Given the description of an element on the screen output the (x, y) to click on. 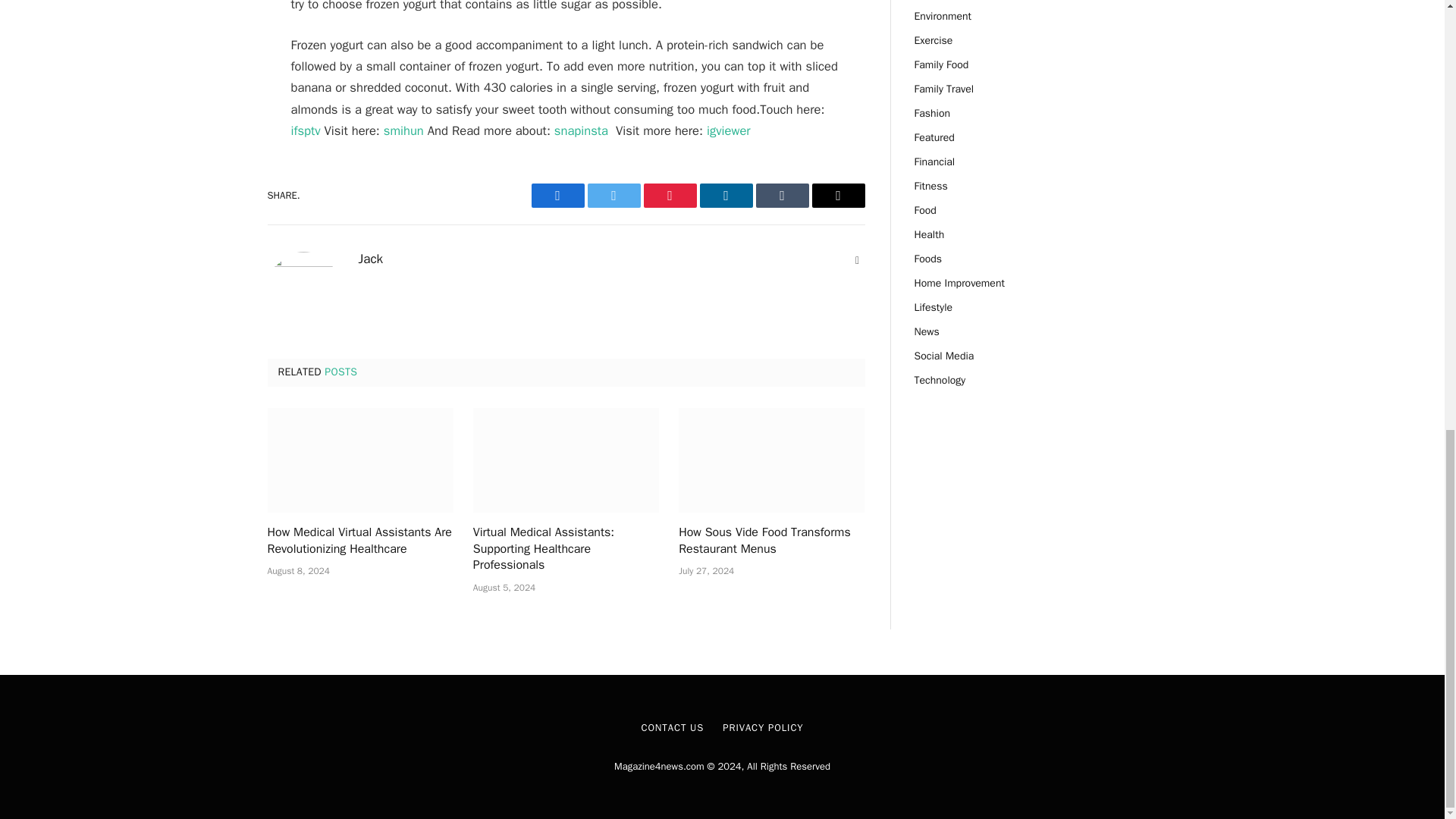
smihun (403, 130)
ifsptv (305, 130)
igviewer (728, 130)
Facebook (557, 195)
snapinsta (581, 130)
